Given the description of an element on the screen output the (x, y) to click on. 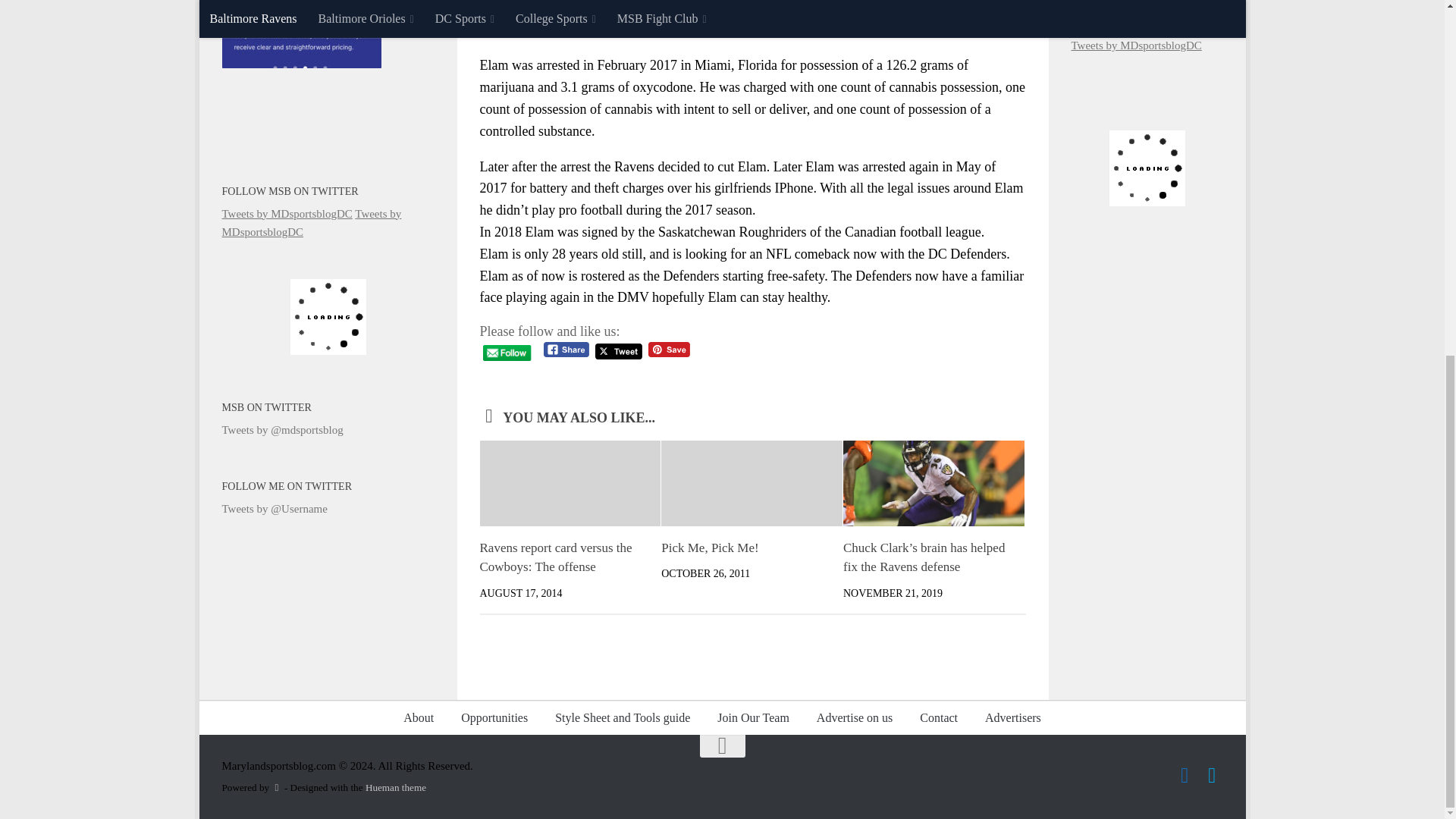
Pin Share (668, 349)
Facebook Share (566, 349)
Tweet (618, 351)
